Given the description of an element on the screen output the (x, y) to click on. 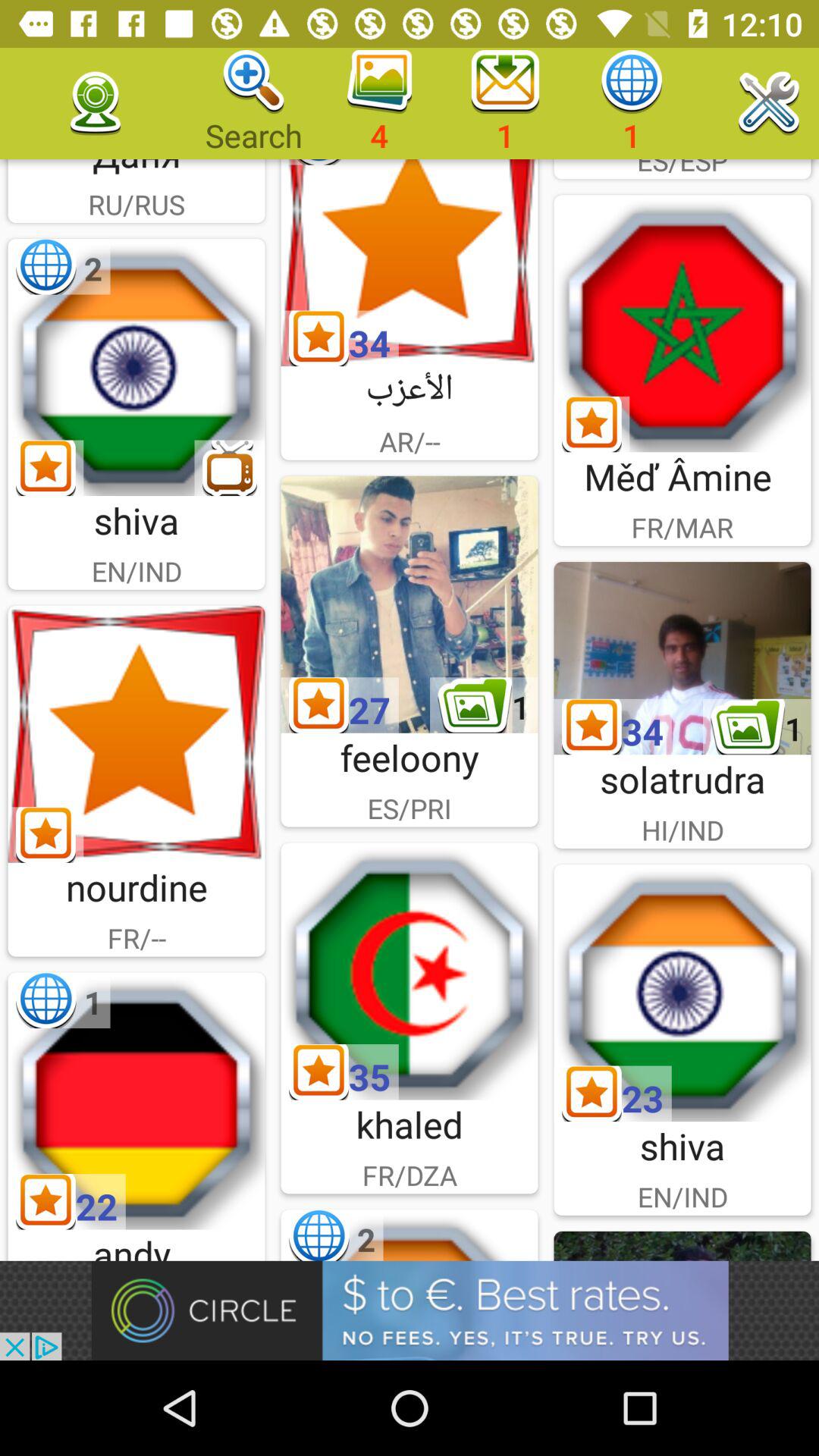
feeloony profile (409, 604)
